Given the description of an element on the screen output the (x, y) to click on. 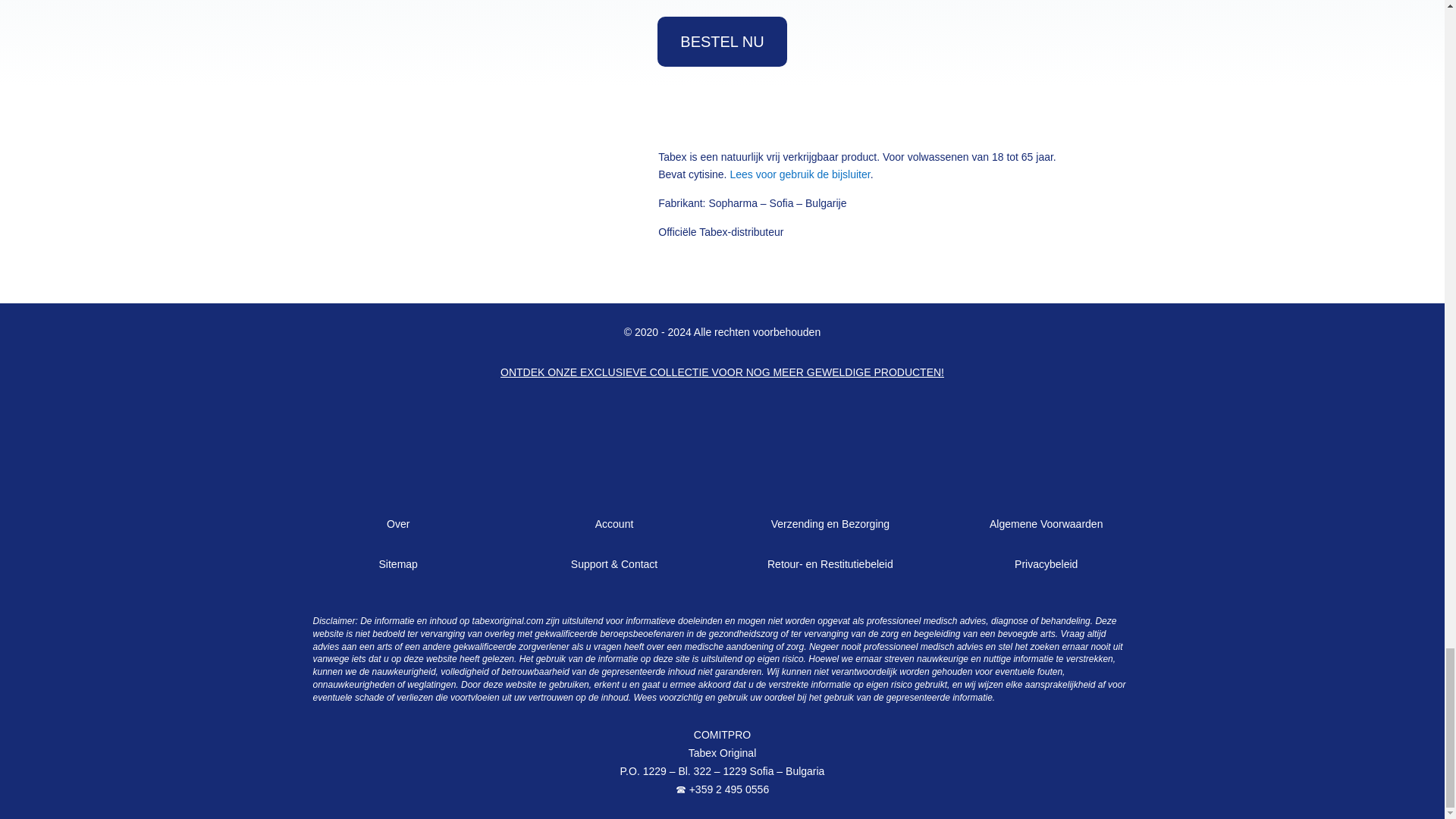
Lees voor gebruik de bijsluiter (799, 174)
Tabex-logo (458, 189)
BESTEL NU (722, 41)
